Given the description of an element on the screen output the (x, y) to click on. 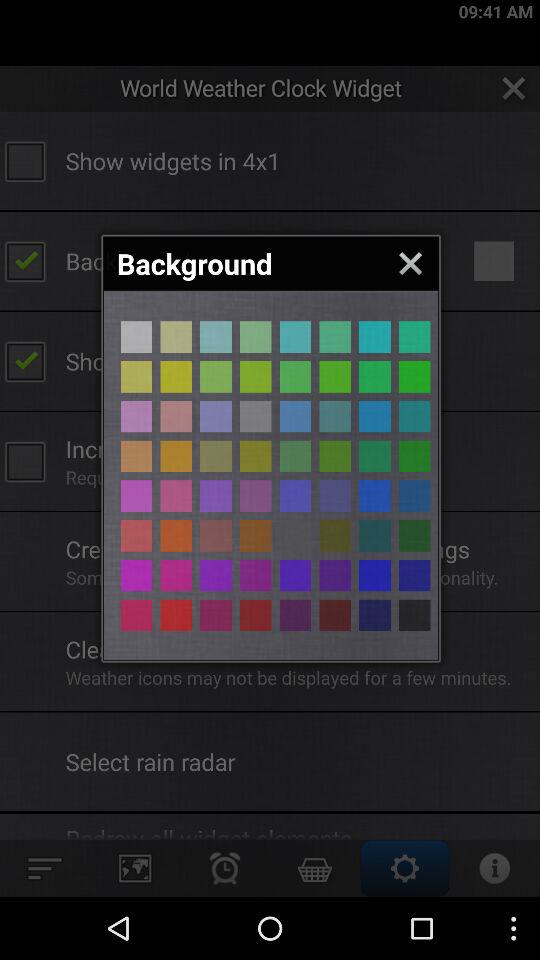
background colour selection (335, 535)
